Given the description of an element on the screen output the (x, y) to click on. 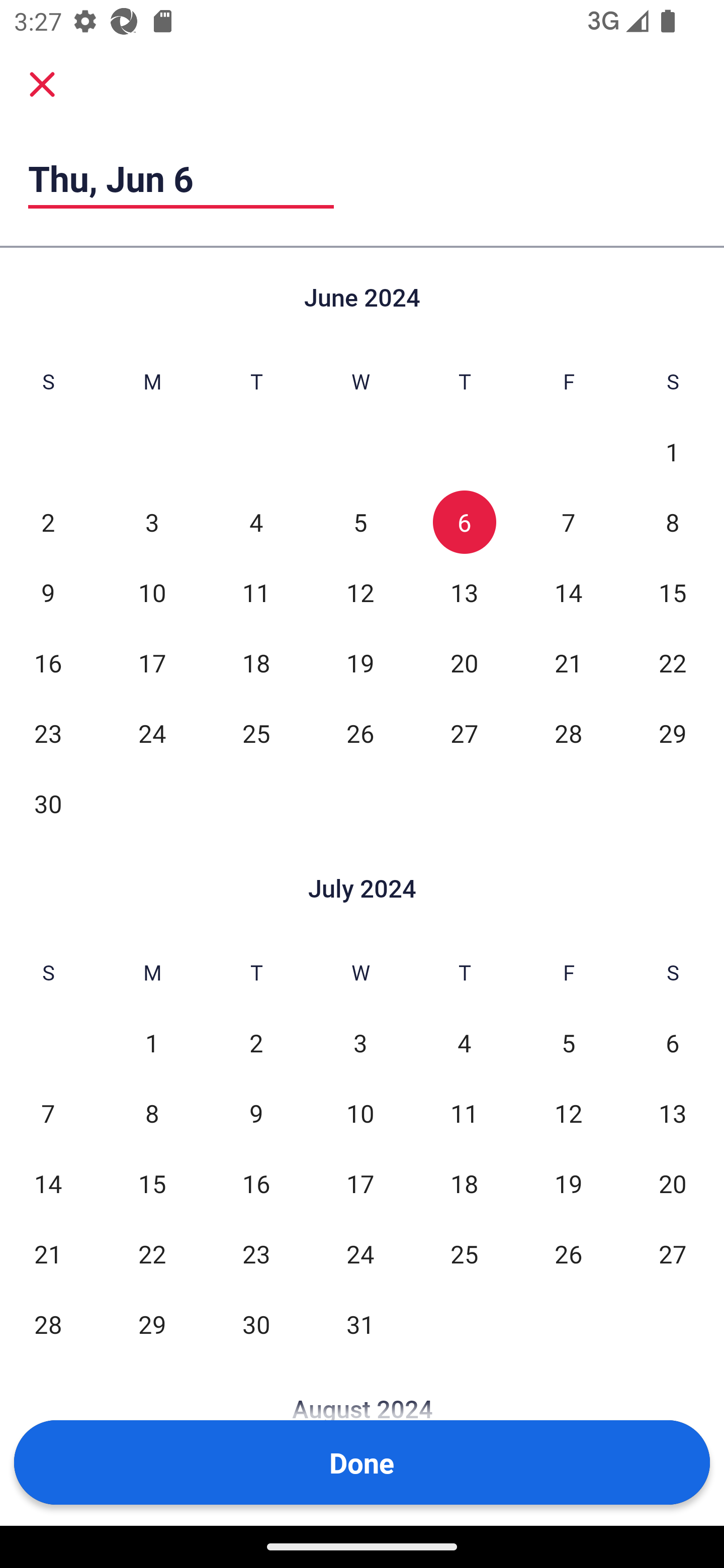
Cancel (41, 83)
Thu, Jun 6 (180, 178)
1 Sat, Jun 1, Not Selected (672, 452)
2 Sun, Jun 2, Not Selected (48, 521)
3 Mon, Jun 3, Not Selected (152, 521)
4 Tue, Jun 4, Not Selected (256, 521)
5 Wed, Jun 5, Not Selected (360, 521)
6 Thu, Jun 6, Selected (464, 521)
7 Fri, Jun 7, Not Selected (568, 521)
8 Sat, Jun 8, Not Selected (672, 521)
9 Sun, Jun 9, Not Selected (48, 591)
10 Mon, Jun 10, Not Selected (152, 591)
11 Tue, Jun 11, Not Selected (256, 591)
12 Wed, Jun 12, Not Selected (360, 591)
13 Thu, Jun 13, Not Selected (464, 591)
14 Fri, Jun 14, Not Selected (568, 591)
15 Sat, Jun 15, Not Selected (672, 591)
16 Sun, Jun 16, Not Selected (48, 662)
17 Mon, Jun 17, Not Selected (152, 662)
18 Tue, Jun 18, Not Selected (256, 662)
19 Wed, Jun 19, Not Selected (360, 662)
20 Thu, Jun 20, Not Selected (464, 662)
21 Fri, Jun 21, Not Selected (568, 662)
22 Sat, Jun 22, Not Selected (672, 662)
23 Sun, Jun 23, Not Selected (48, 732)
24 Mon, Jun 24, Not Selected (152, 732)
25 Tue, Jun 25, Not Selected (256, 732)
26 Wed, Jun 26, Not Selected (360, 732)
27 Thu, Jun 27, Not Selected (464, 732)
28 Fri, Jun 28, Not Selected (568, 732)
29 Sat, Jun 29, Not Selected (672, 732)
30 Sun, Jun 30, Not Selected (48, 803)
1 Mon, Jul 1, Not Selected (152, 1043)
2 Tue, Jul 2, Not Selected (256, 1043)
3 Wed, Jul 3, Not Selected (360, 1043)
4 Thu, Jul 4, Not Selected (464, 1043)
5 Fri, Jul 5, Not Selected (568, 1043)
6 Sat, Jul 6, Not Selected (672, 1043)
7 Sun, Jul 7, Not Selected (48, 1112)
8 Mon, Jul 8, Not Selected (152, 1112)
9 Tue, Jul 9, Not Selected (256, 1112)
10 Wed, Jul 10, Not Selected (360, 1112)
11 Thu, Jul 11, Not Selected (464, 1112)
12 Fri, Jul 12, Not Selected (568, 1112)
13 Sat, Jul 13, Not Selected (672, 1112)
14 Sun, Jul 14, Not Selected (48, 1182)
15 Mon, Jul 15, Not Selected (152, 1182)
16 Tue, Jul 16, Not Selected (256, 1182)
17 Wed, Jul 17, Not Selected (360, 1182)
18 Thu, Jul 18, Not Selected (464, 1182)
19 Fri, Jul 19, Not Selected (568, 1182)
20 Sat, Jul 20, Not Selected (672, 1182)
21 Sun, Jul 21, Not Selected (48, 1253)
22 Mon, Jul 22, Not Selected (152, 1253)
23 Tue, Jul 23, Not Selected (256, 1253)
24 Wed, Jul 24, Not Selected (360, 1253)
25 Thu, Jul 25, Not Selected (464, 1253)
26 Fri, Jul 26, Not Selected (568, 1253)
27 Sat, Jul 27, Not Selected (672, 1253)
28 Sun, Jul 28, Not Selected (48, 1323)
29 Mon, Jul 29, Not Selected (152, 1323)
30 Tue, Jul 30, Not Selected (256, 1323)
31 Wed, Jul 31, Not Selected (360, 1323)
Done Button Done (361, 1462)
